Given the description of an element on the screen output the (x, y) to click on. 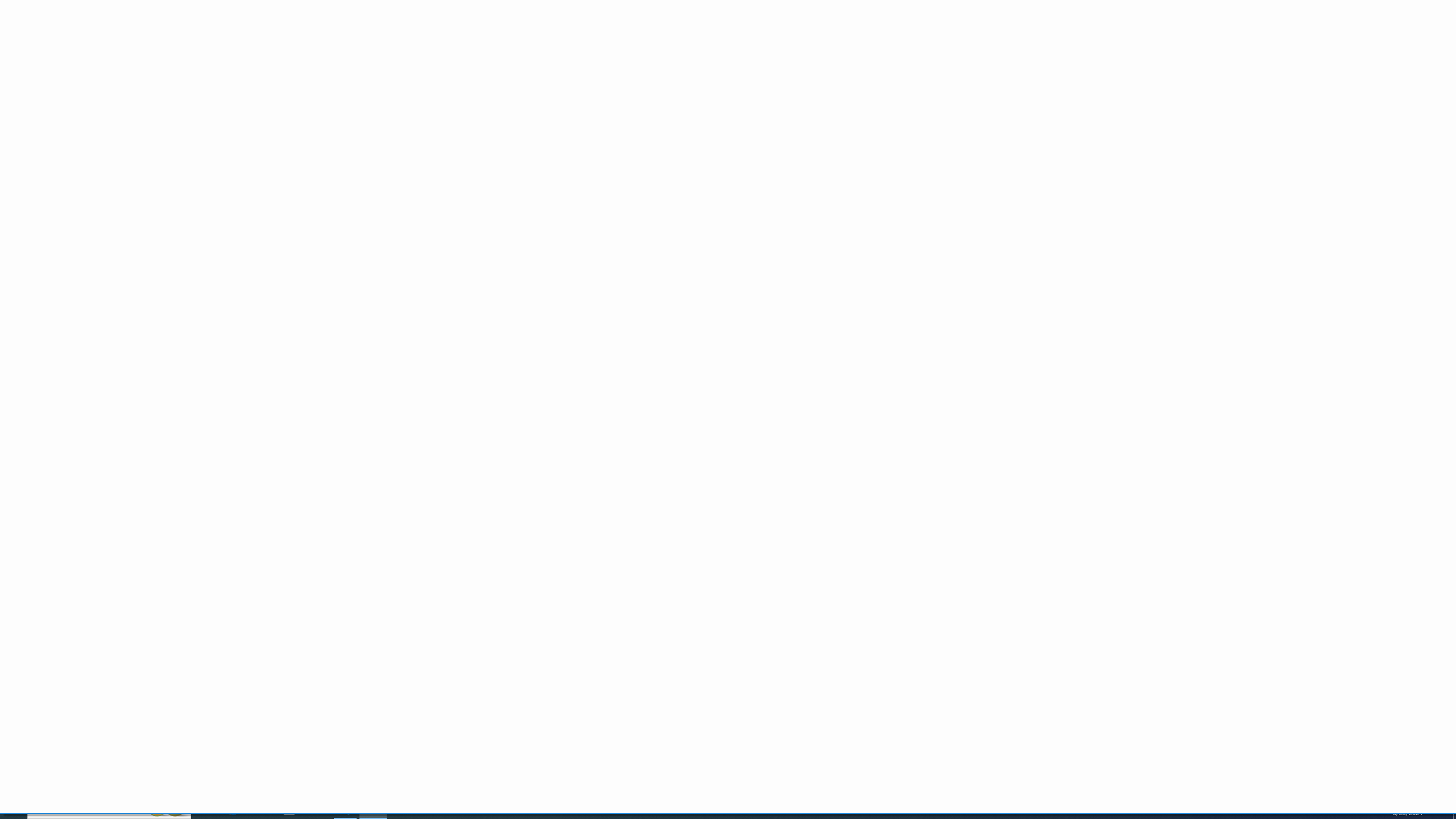
Show Phonetic Field (236, 67)
Fill (999, 56)
Delete Cells... (938, 48)
Sort & Filter (1049, 58)
Check Cell (611, 65)
Align Left (262, 67)
Underline (131, 67)
Cell Styles (887, 68)
Merge & Center (365, 67)
Percent Style (443, 67)
